Given the description of an element on the screen output the (x, y) to click on. 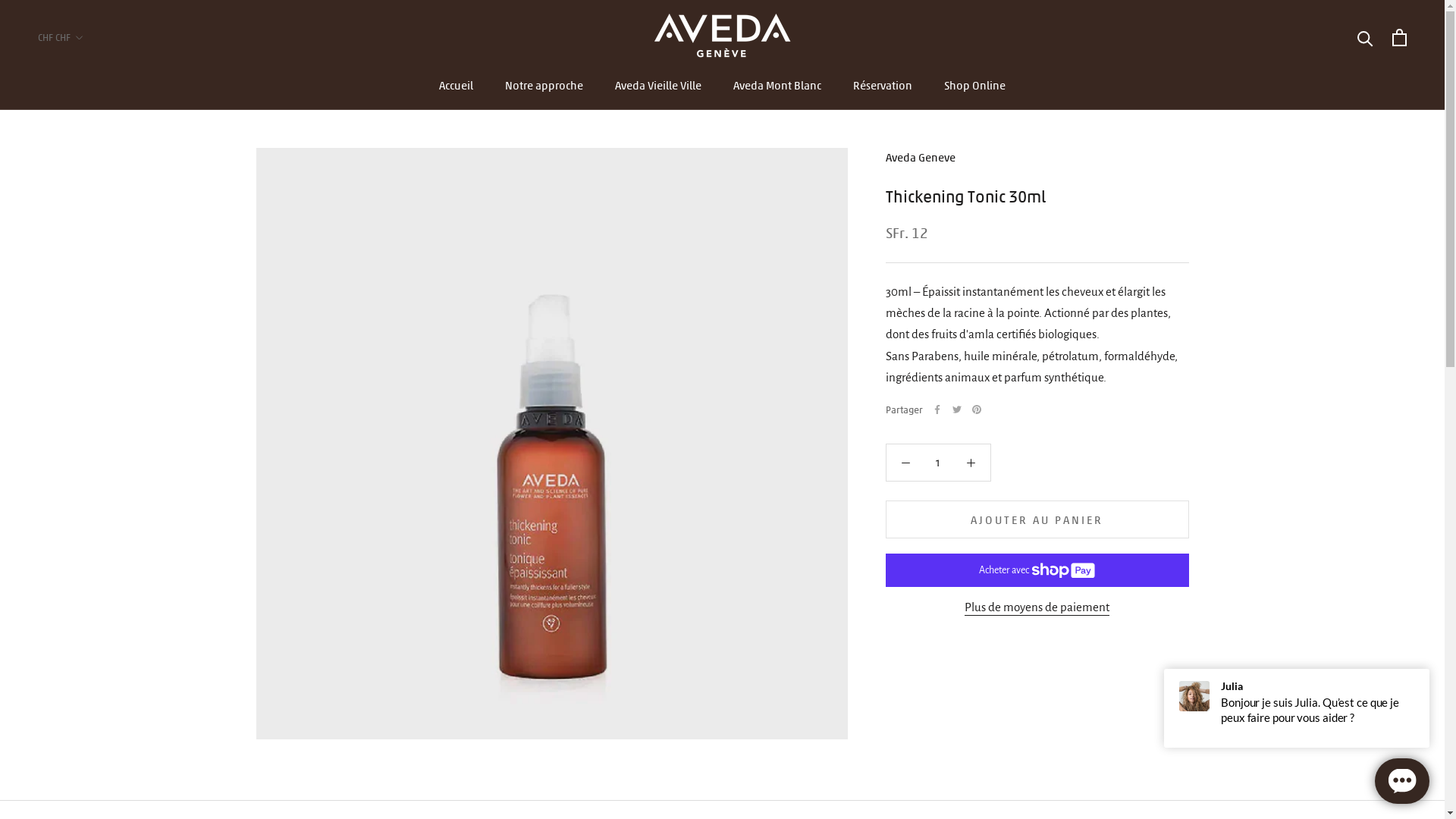
Plus de moyens de paiement Element type: text (1036, 607)
BND Element type: text (81, 383)
DZD Element type: text (81, 741)
BBD Element type: text (81, 287)
Shop Online
Shop Online Element type: text (974, 84)
BDT Element type: text (81, 311)
BWP Element type: text (81, 455)
DJF Element type: text (81, 668)
AFN Element type: text (81, 97)
CHF CHF Element type: text (60, 37)
BAM Element type: text (81, 264)
CVE Element type: text (81, 621)
ETB Element type: text (81, 788)
DOP Element type: text (81, 716)
BSD Element type: text (81, 430)
AED Element type: text (81, 73)
BOB Element type: text (81, 407)
BGN Element type: text (81, 335)
CAD Element type: text (81, 502)
BIF Element type: text (81, 359)
BZD Element type: text (81, 478)
CZK Element type: text (81, 645)
Accueil
Accueil Element type: text (456, 84)
DKK Element type: text (81, 693)
AMD Element type: text (81, 144)
Notre approche
Notre approche Element type: text (544, 84)
AZN Element type: text (81, 240)
ANG Element type: text (81, 168)
AJOUTER AU PANIER Element type: text (1037, 519)
Aveda Mont Blanc
Aveda Mont Blanc Element type: text (777, 84)
CHF Element type: text (81, 549)
ALL Element type: text (81, 120)
CRC Element type: text (81, 597)
EGP Element type: text (81, 764)
CNY Element type: text (81, 574)
CDF Element type: text (81, 526)
AUD Element type: text (81, 192)
Aveda Vieille Ville
Aveda Vieille Ville Element type: text (658, 84)
AWG Element type: text (81, 216)
